Given the description of an element on the screen output the (x, y) to click on. 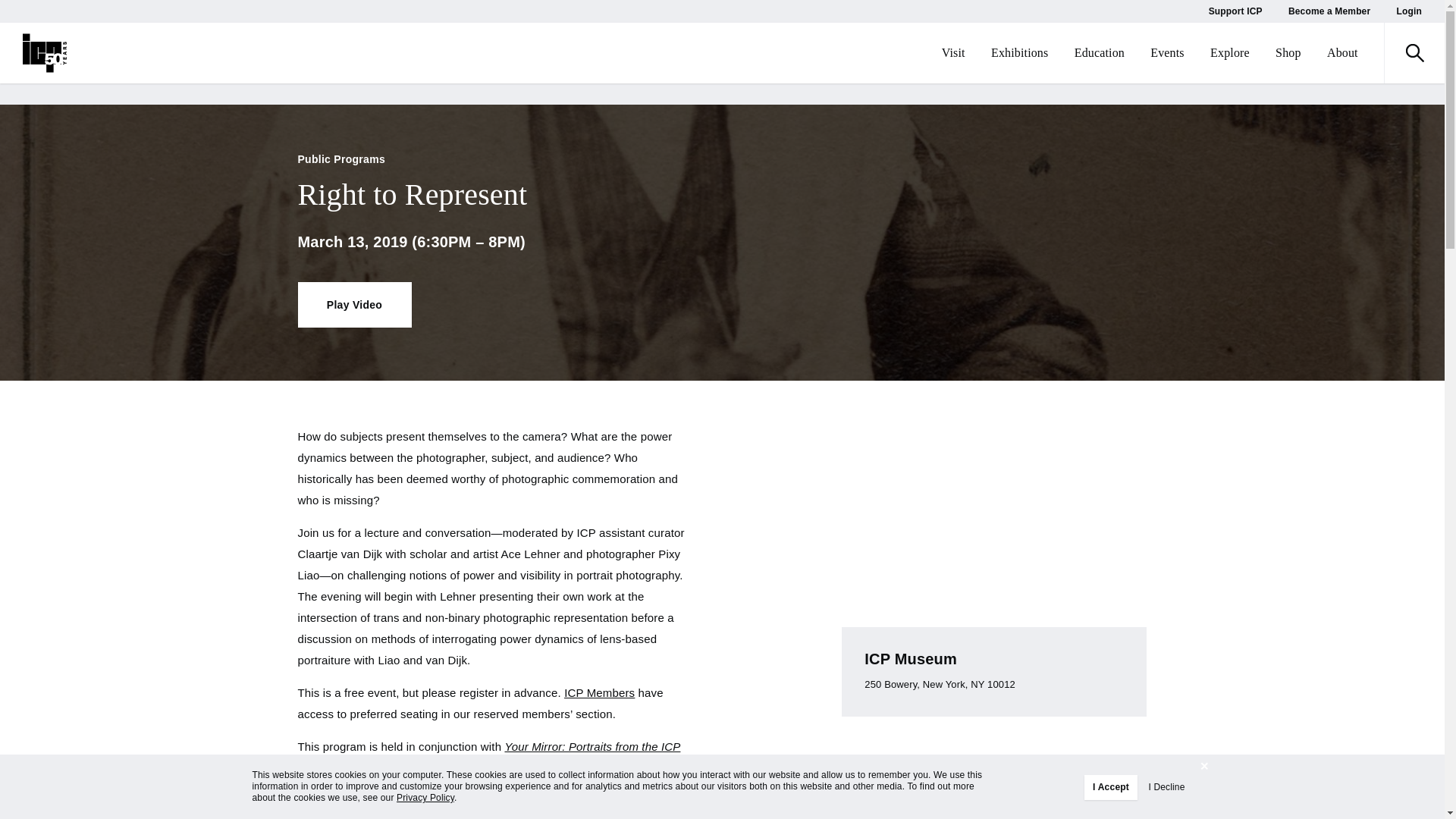
Exhibitions (1019, 53)
Play Video (353, 304)
Education (1099, 53)
Become a Member (1329, 11)
Support ICP (1235, 11)
Login (1409, 11)
